Given the description of an element on the screen output the (x, y) to click on. 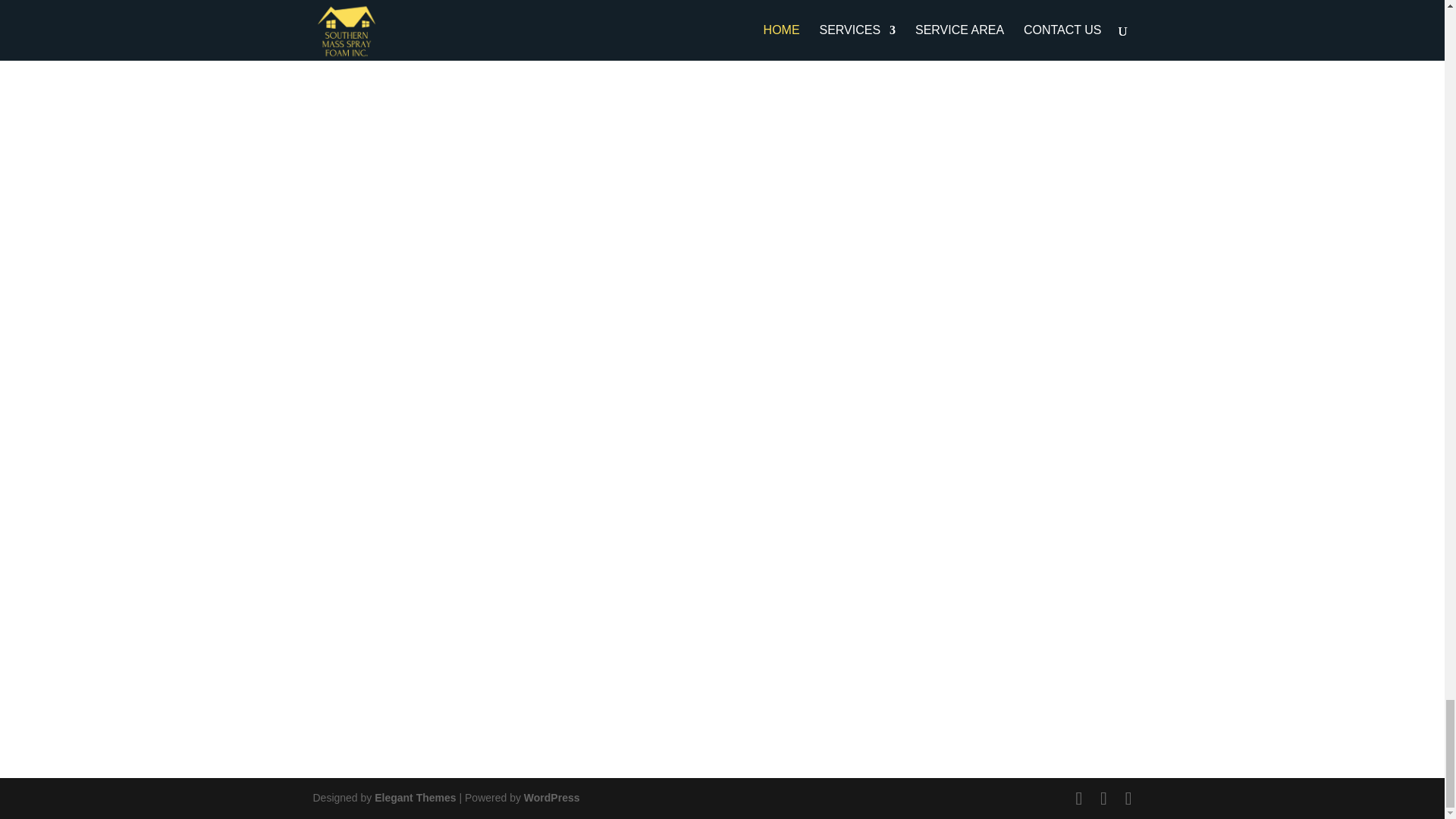
WordPress (551, 797)
Elegant Themes (414, 797)
